Given the description of an element on the screen output the (x, y) to click on. 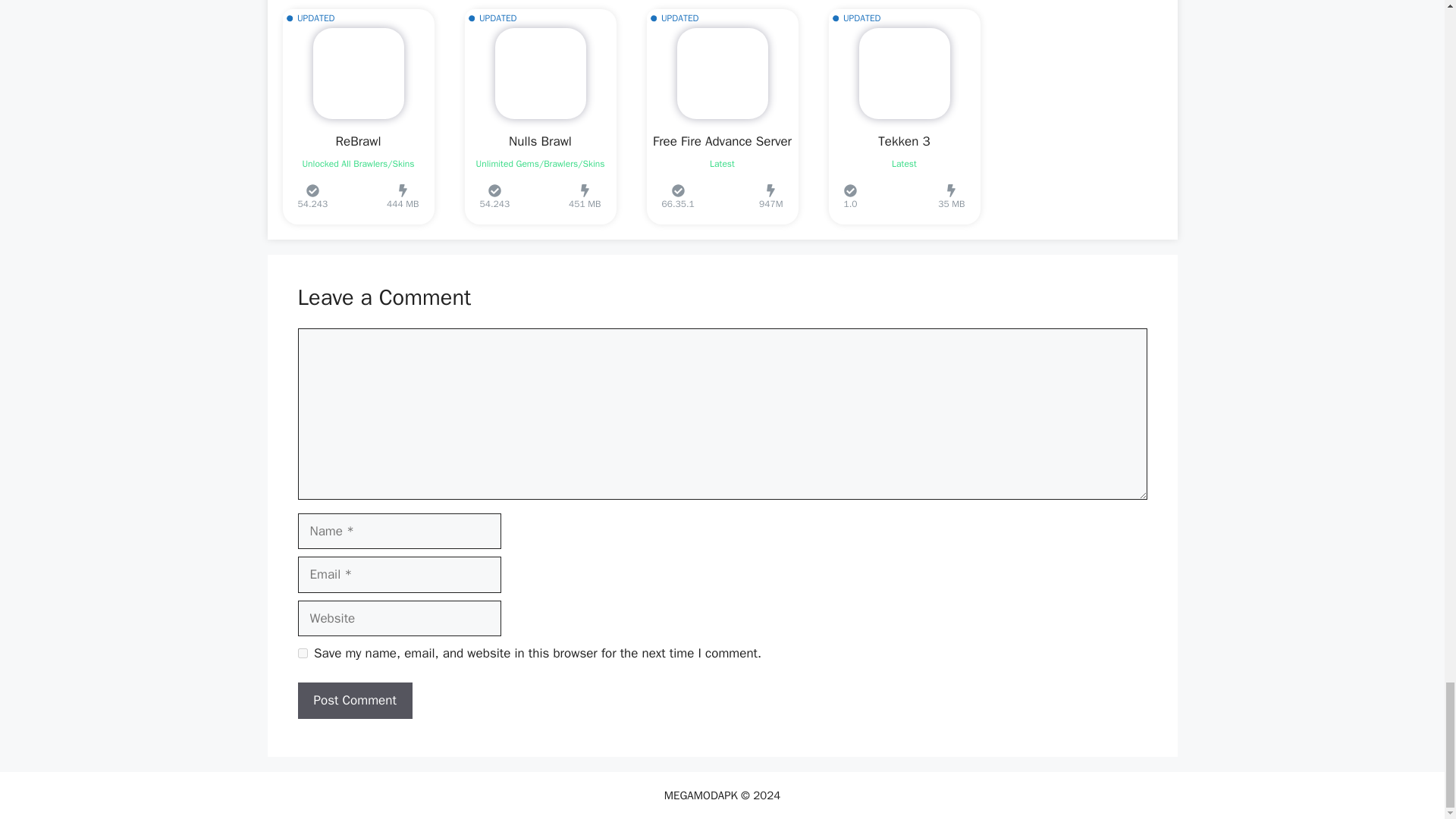
yes (302, 653)
Post Comment (354, 700)
ReBrawl (357, 141)
Tekken 3 (903, 141)
Post Comment (354, 700)
Free Fire Advance Server (722, 141)
Nulls Brawl (540, 141)
